Given the description of an element on the screen output the (x, y) to click on. 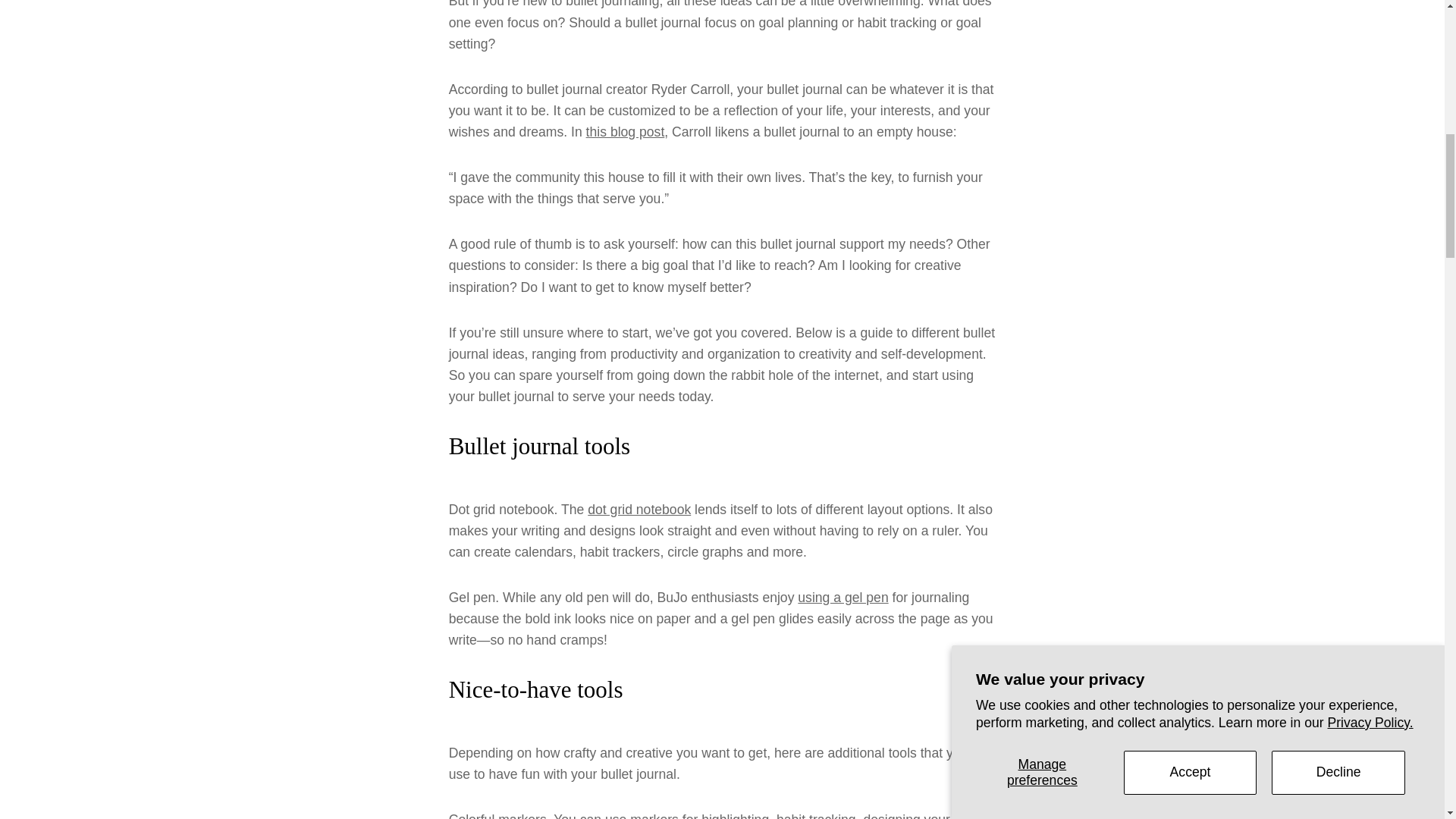
Back to the Basics (625, 131)
gel pens (842, 597)
Leuchtturm1917 Bullet Journal Edition 2 (639, 509)
